Given the description of an element on the screen output the (x, y) to click on. 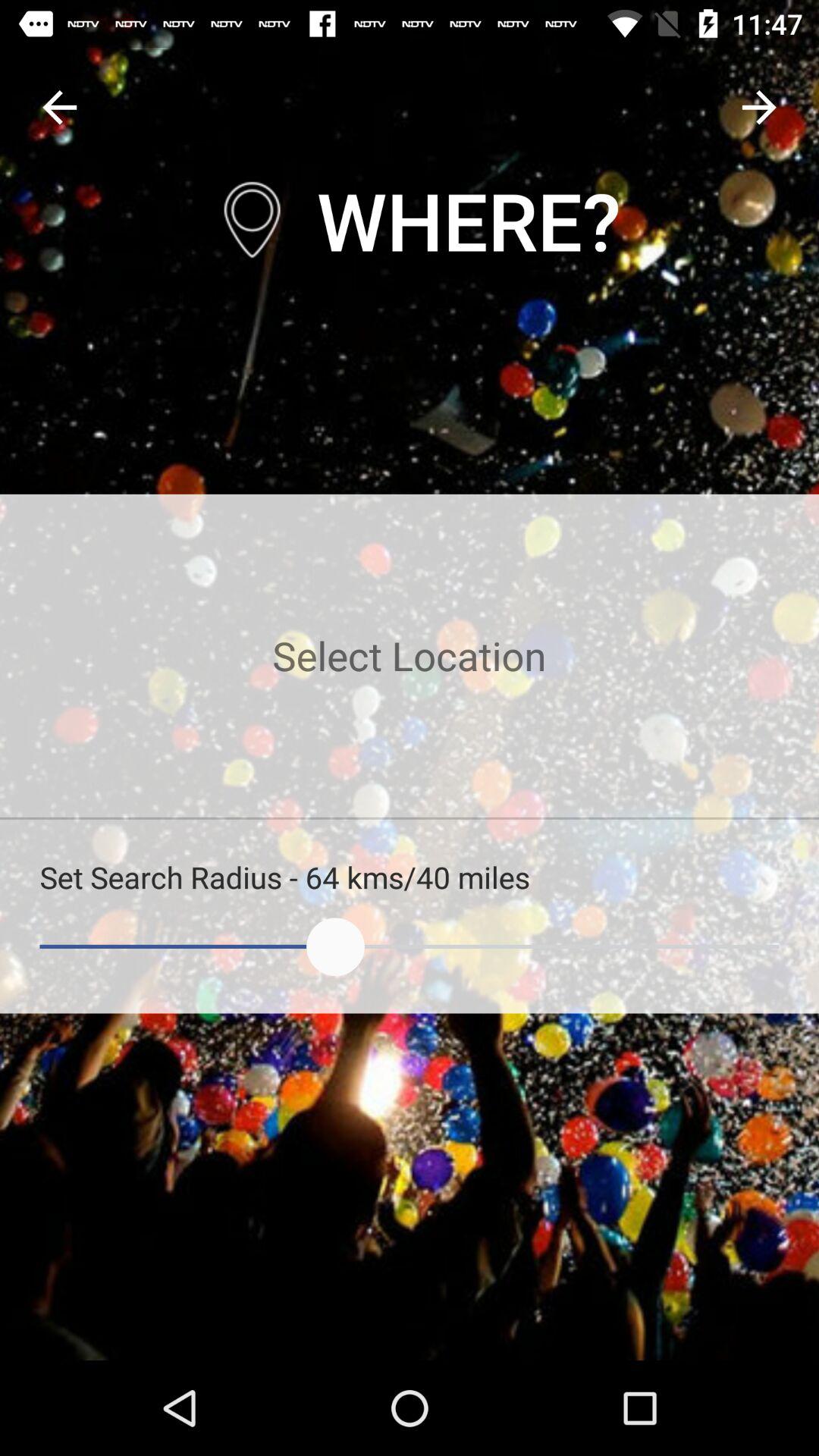
back button (59, 107)
